Given the description of an element on the screen output the (x, y) to click on. 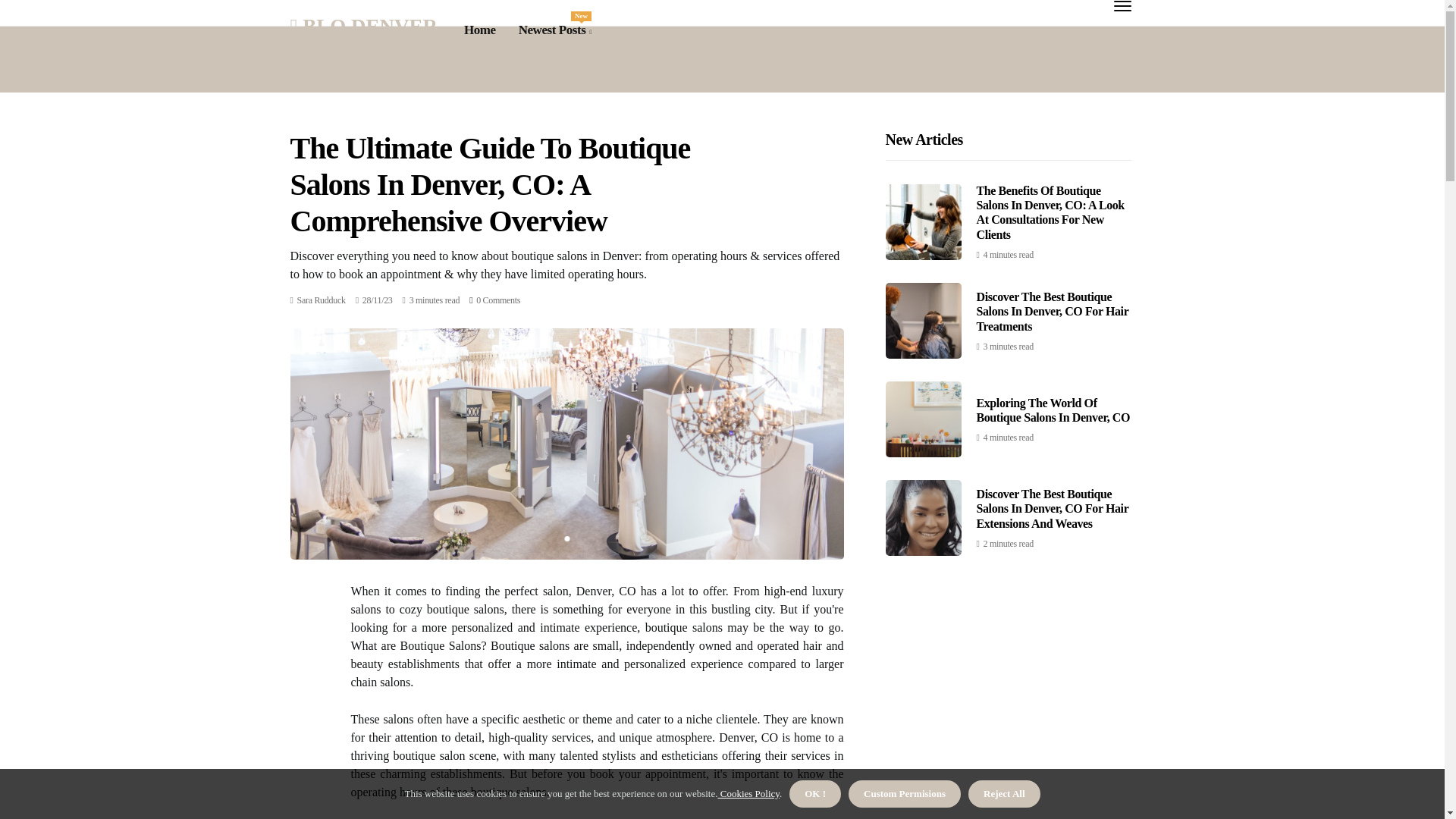
Sara Rudduck (321, 299)
0 Comments (497, 299)
BLO DENVER (362, 26)
Posts by Sara Rudduck (554, 30)
Exploring The World Of Boutique Salons In Denver, CO (321, 299)
